Given the description of an element on the screen output the (x, y) to click on. 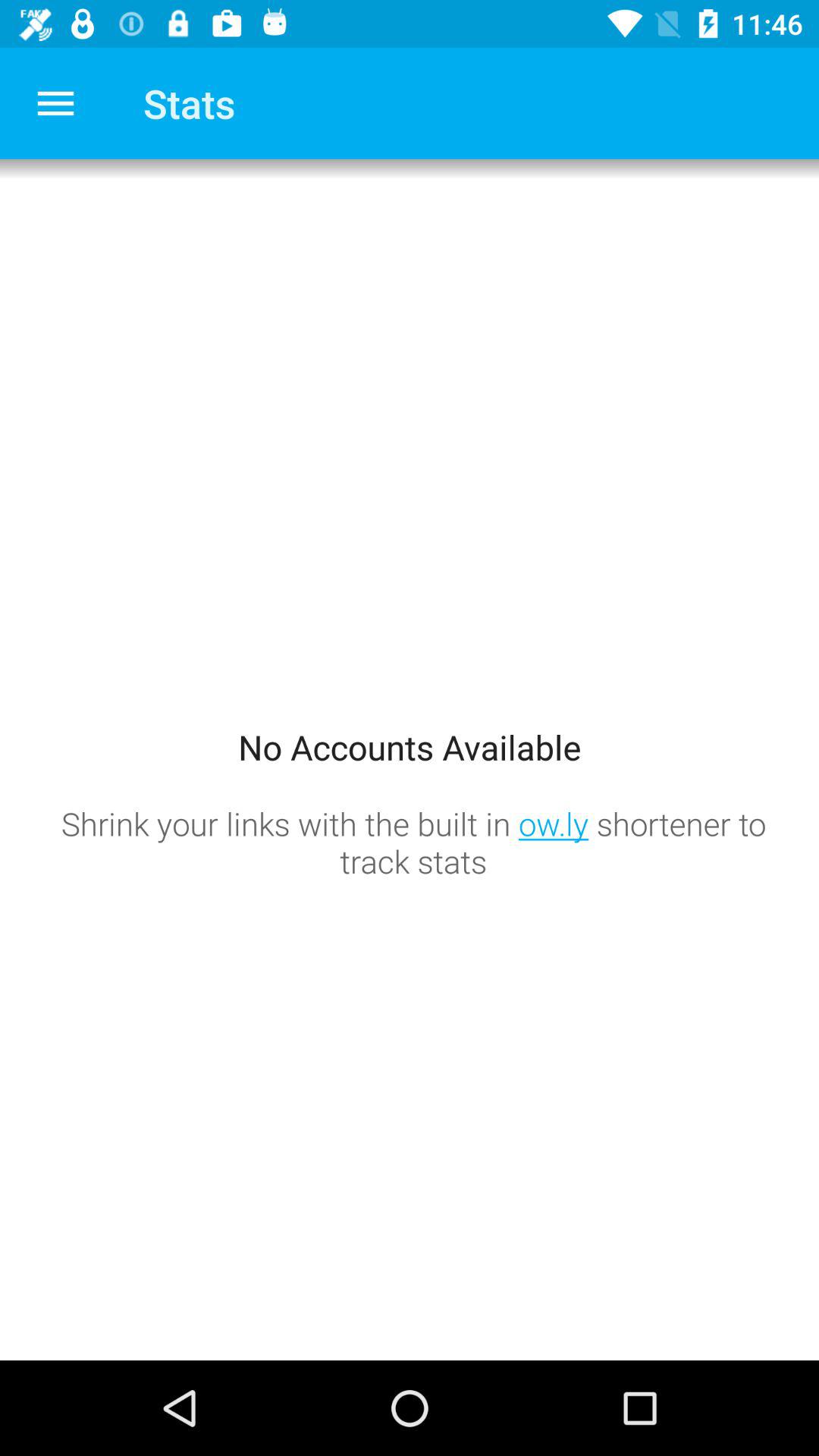
swipe until the shrink your links icon (413, 841)
